Given the description of an element on the screen output the (x, y) to click on. 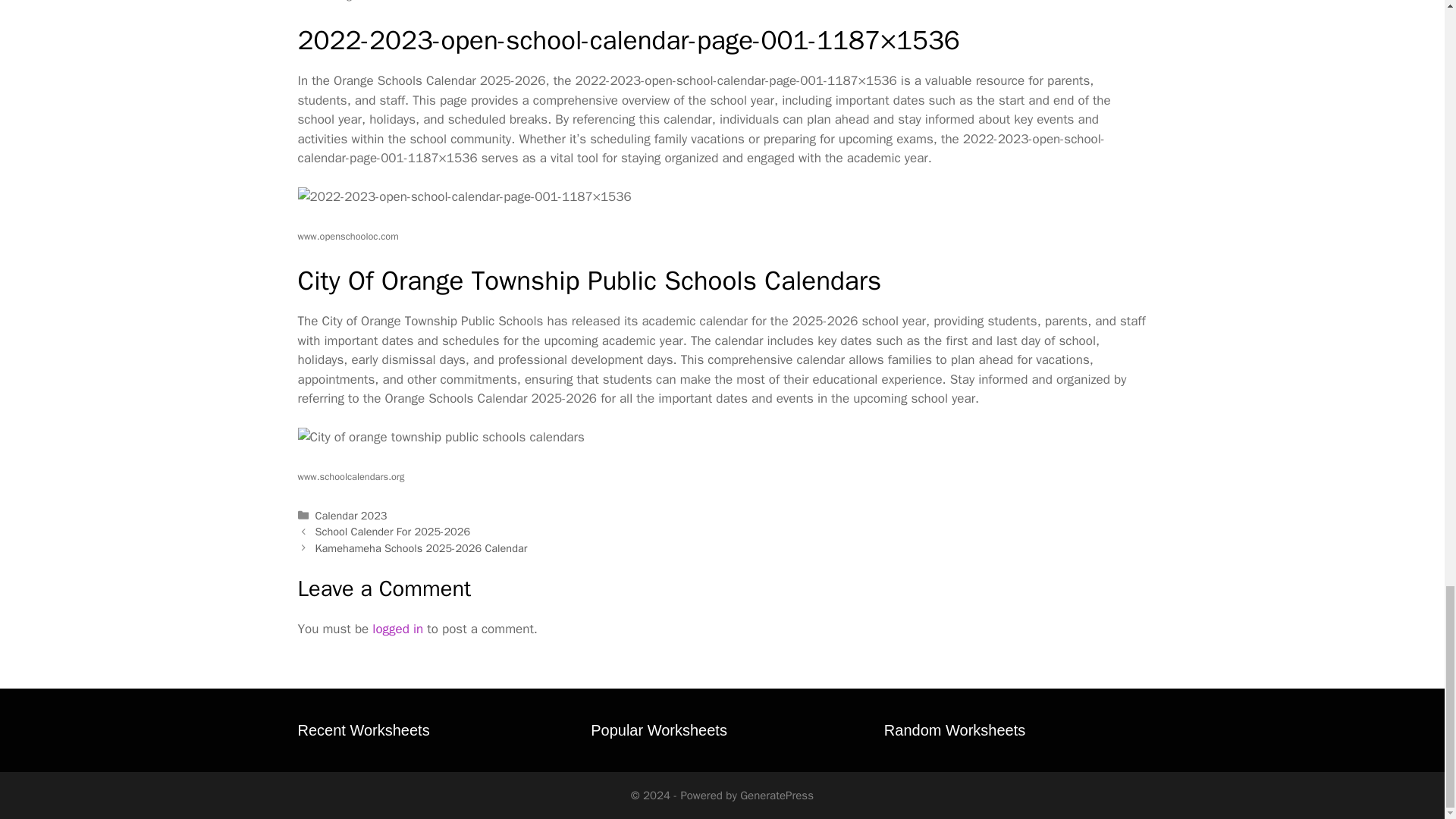
logged in (397, 628)
Calendar 2023 (351, 515)
GeneratePress (776, 795)
School Calender For 2025-2026 (392, 531)
Kamehameha Schools 2025-2026 Calendar (421, 548)
